Given the description of an element on the screen output the (x, y) to click on. 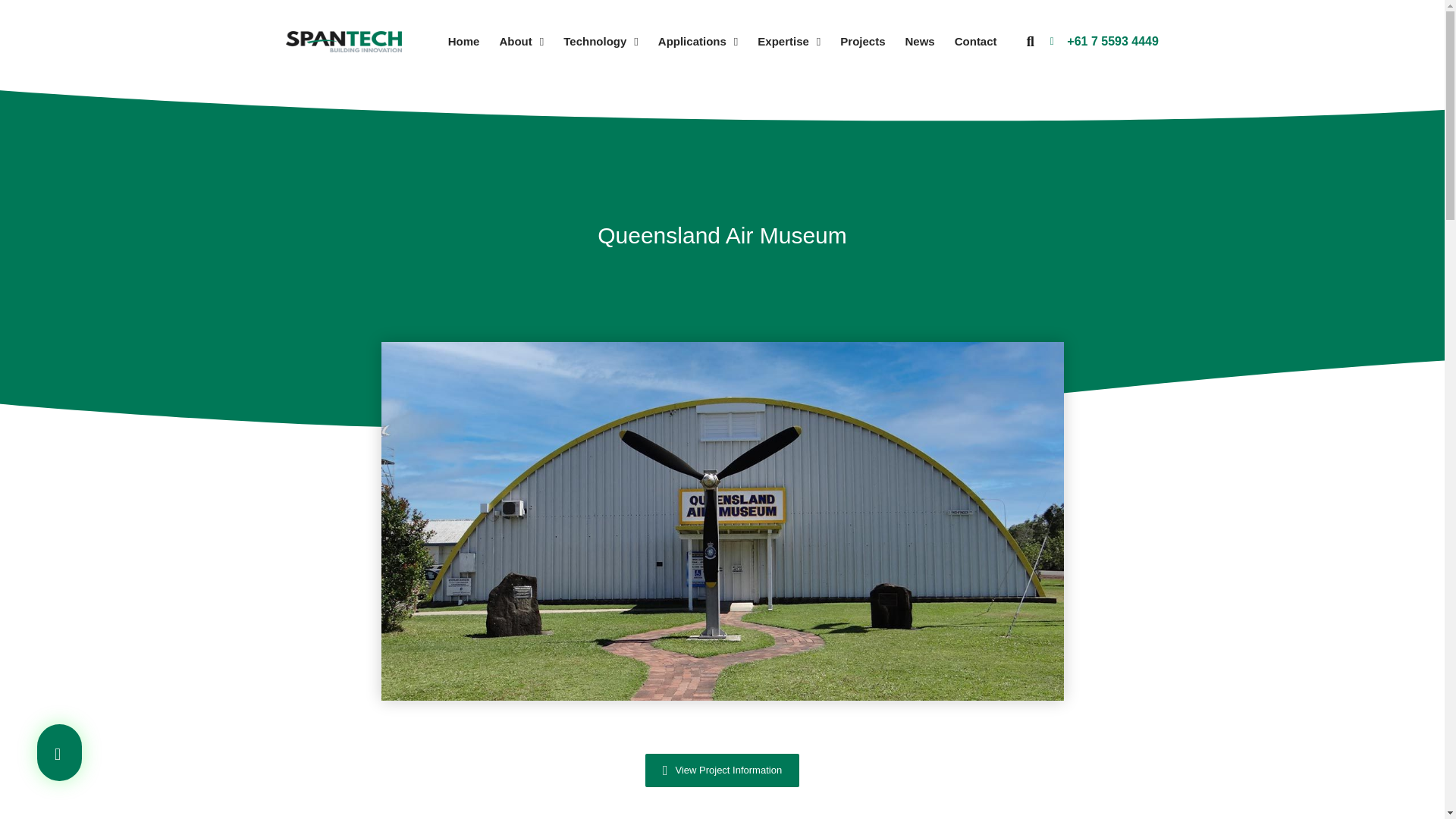
Technology (600, 41)
About (521, 41)
Expertise (788, 41)
Applications (698, 41)
Home (464, 41)
